Given the description of an element on the screen output the (x, y) to click on. 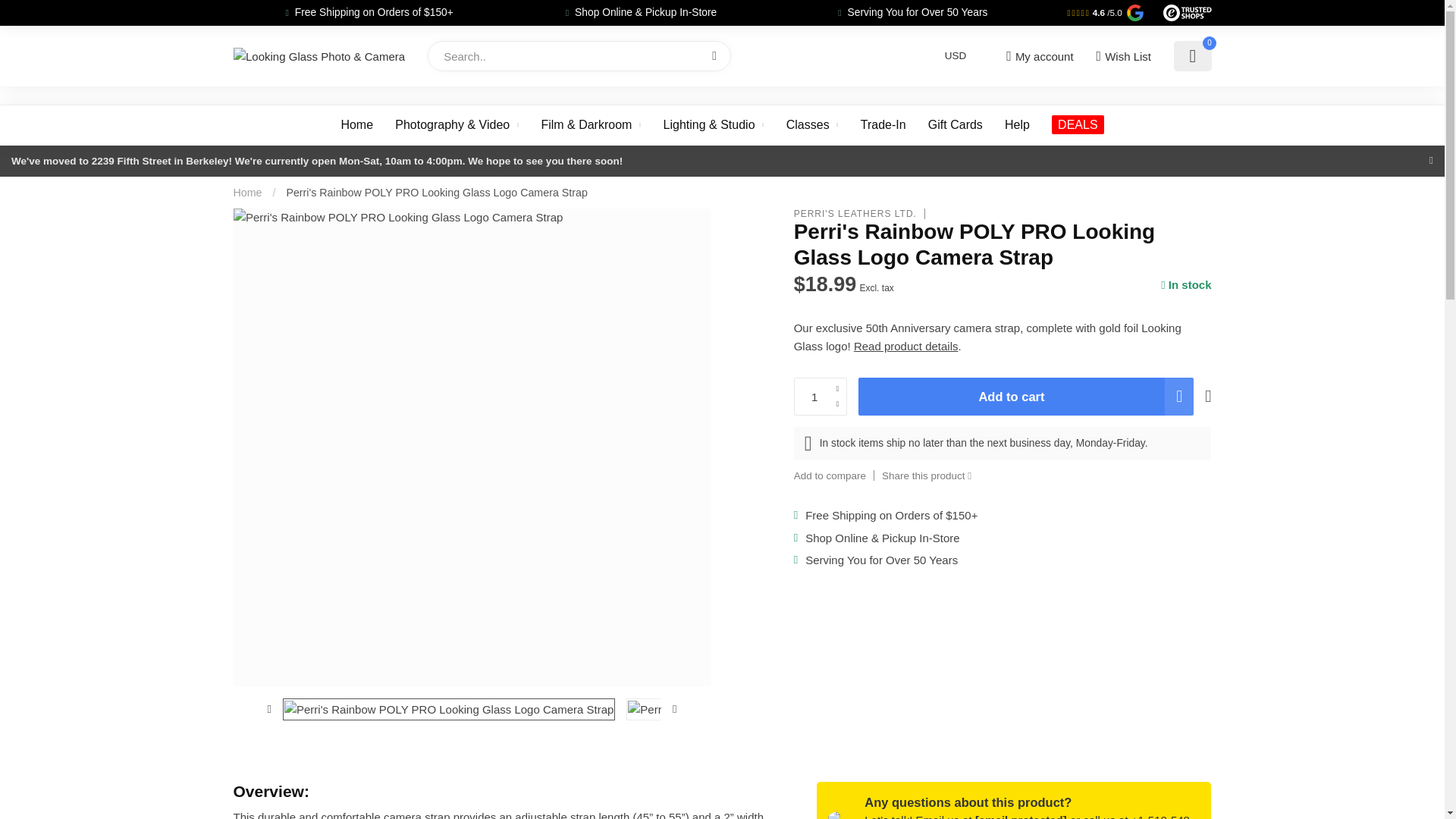
Home (247, 192)
Wish List (1123, 55)
1 (820, 396)
Wish List (1123, 55)
My account (1039, 55)
0 (1192, 55)
